Given the description of an element on the screen output the (x, y) to click on. 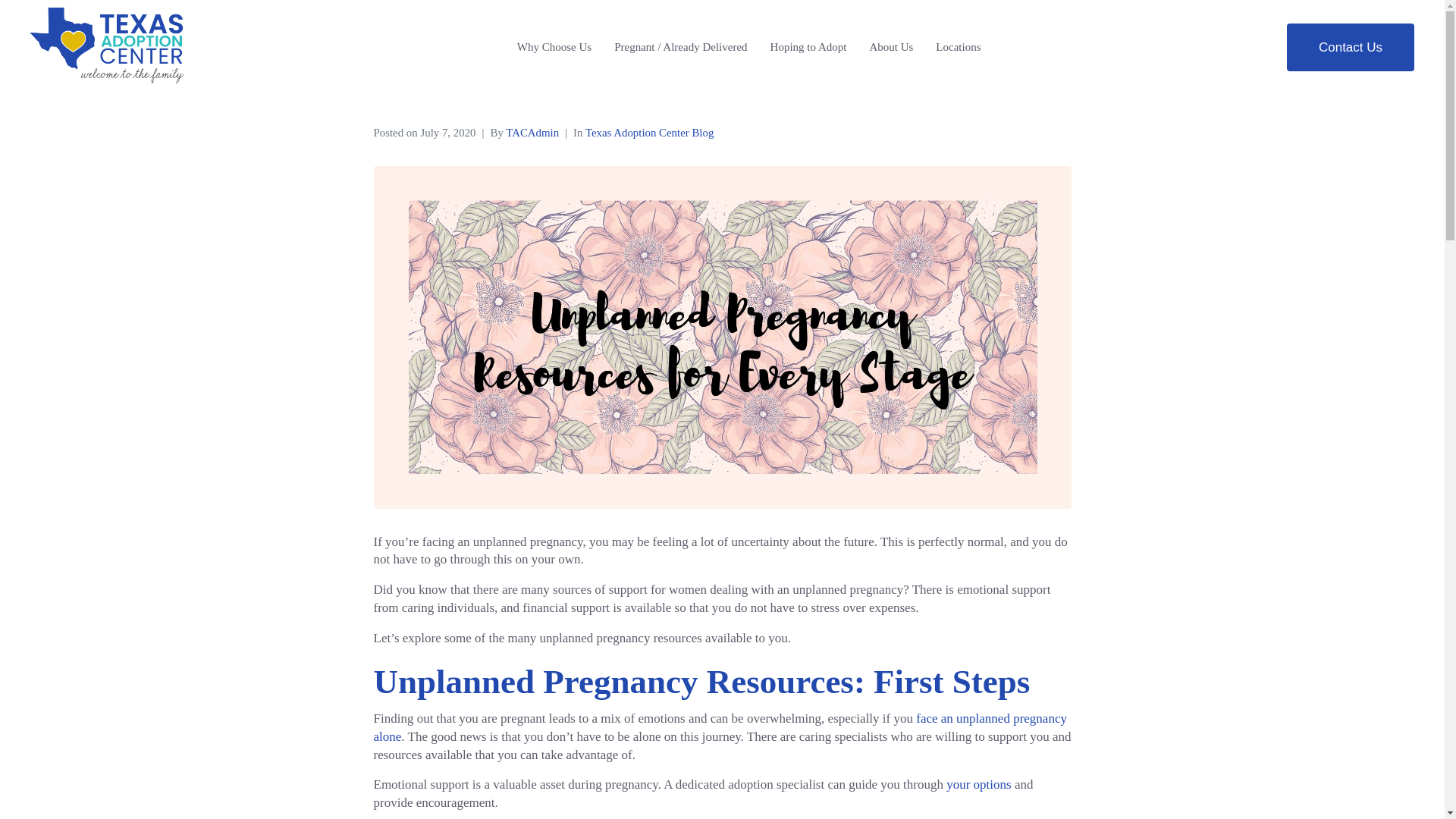
Locations (957, 47)
Hoping to Adopt (808, 47)
Why Choose Us (553, 47)
About Us (890, 47)
